Given the description of an element on the screen output the (x, y) to click on. 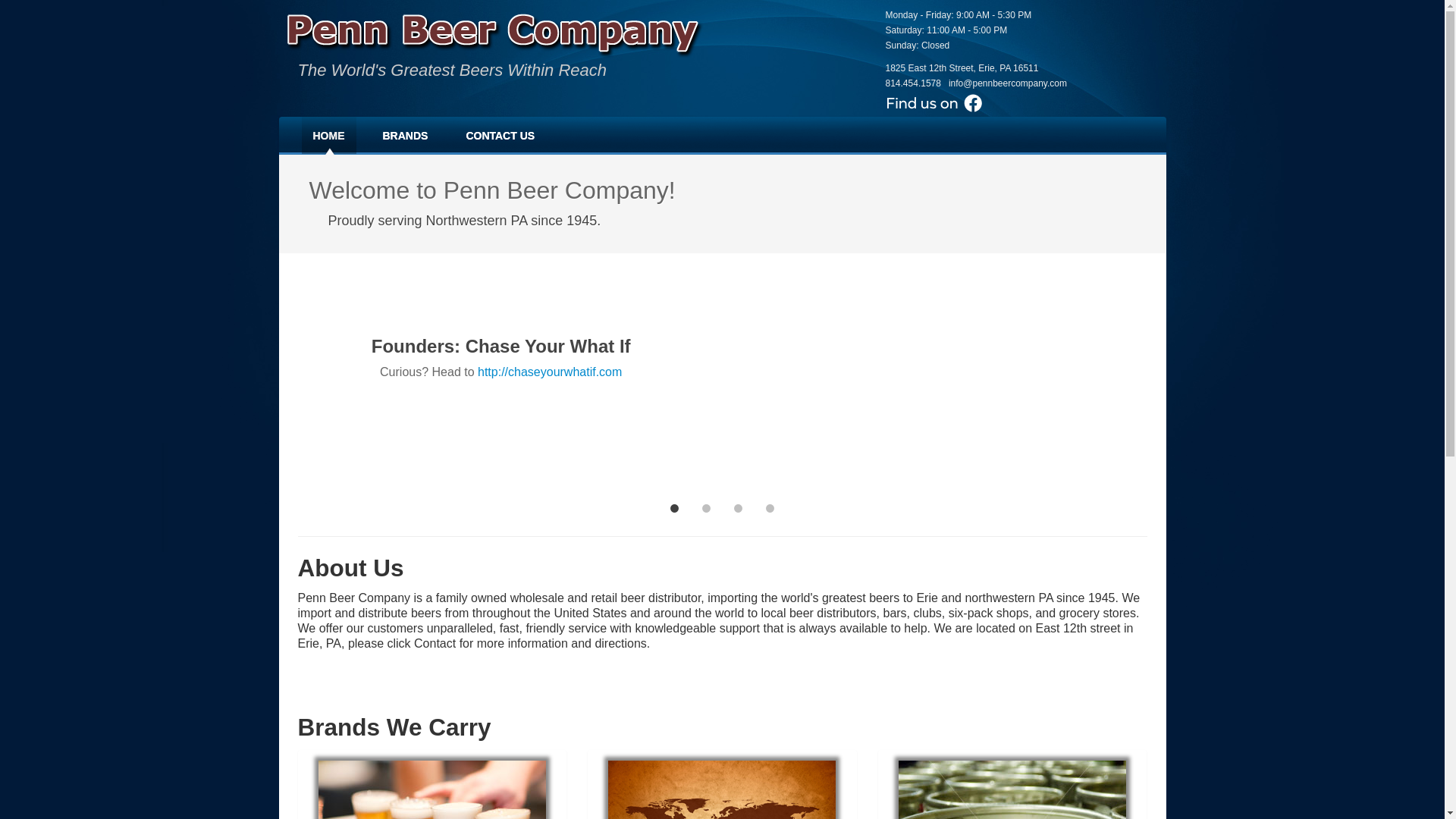
BRANDS (405, 135)
HOME (328, 135)
CONTACT US (500, 135)
814.454.1578 (912, 82)
2 (706, 504)
1 (674, 504)
4 (770, 504)
3 (738, 504)
